Given the description of an element on the screen output the (x, y) to click on. 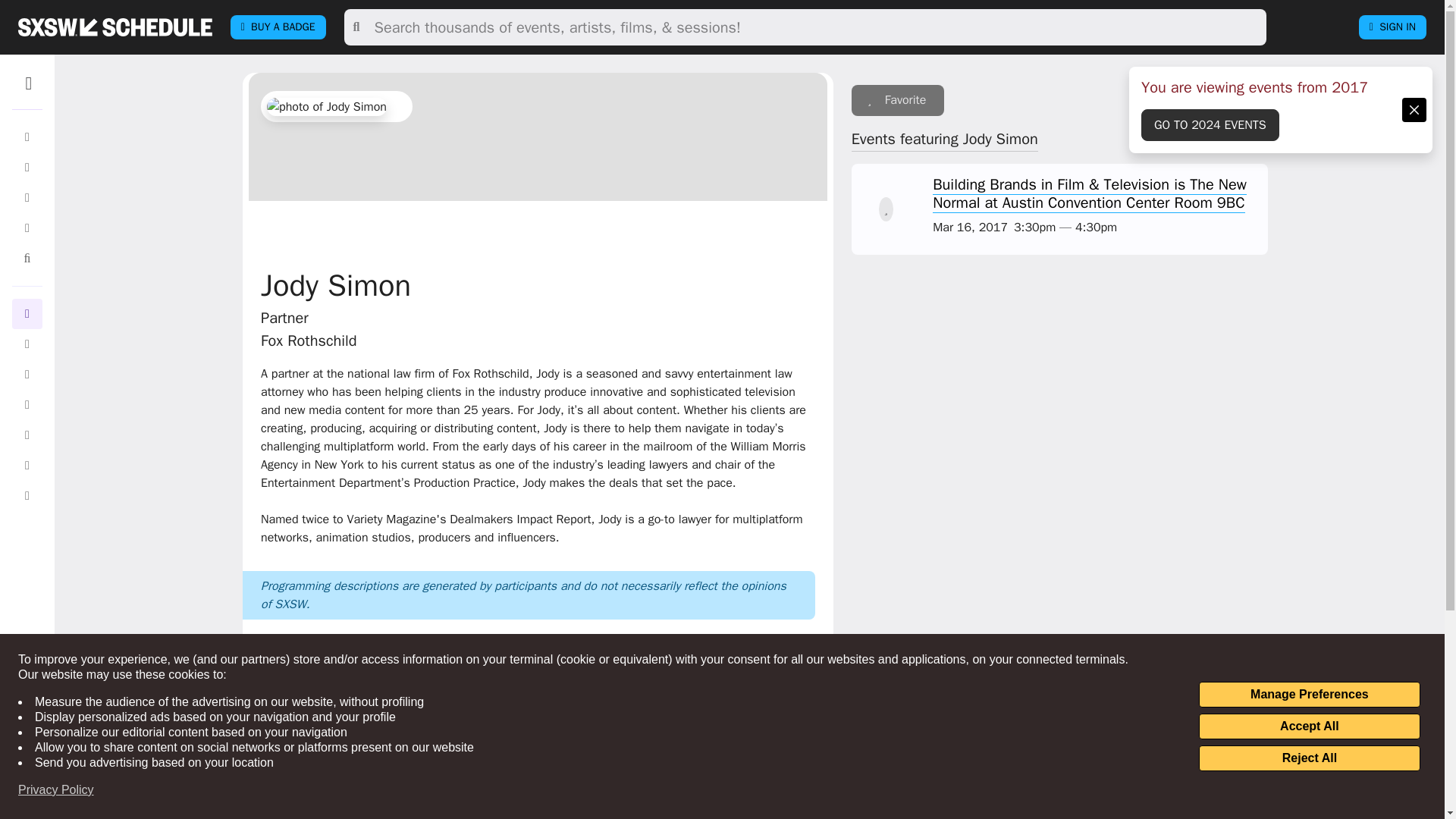
SIGN IN (1392, 27)
Reject All (1309, 758)
GO TO 2024 EVENTS (1210, 124)
Privacy Policy (55, 789)
Manage Preferences (1309, 694)
Sign In to add to your favorites. (897, 100)
BUY A BADGE (278, 27)
sxsw SCHEDULE (114, 27)
Accept All (1309, 726)
